Given the description of an element on the screen output the (x, y) to click on. 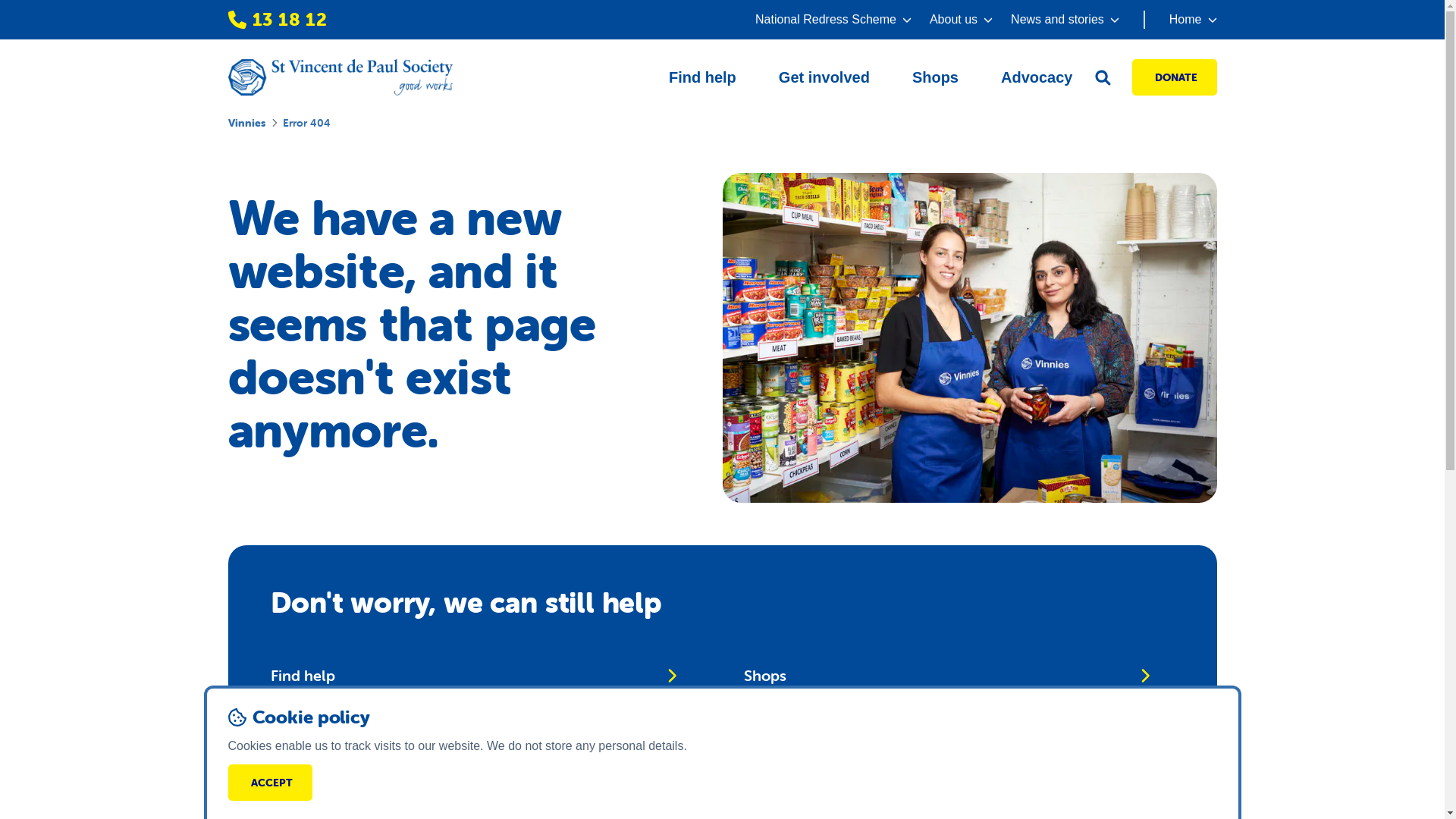
ACCEPT Element type: text (269, 782)
Home Element type: text (1180, 19)
Find help Element type: text (702, 76)
Contact us Element type: text (946, 775)
Search Element type: text (472, 775)
National Redress Scheme Element type: text (833, 19)
DONATE Element type: text (1173, 77)
Advocacy Element type: text (1037, 76)
Advocacy Element type: text (946, 725)
Vinnies Element type: text (245, 122)
Get involved Element type: text (823, 76)
13 18 12 Element type: text (276, 19)
About us Element type: text (960, 19)
Services Element type: text (472, 725)
Find help Element type: text (472, 675)
News and stories Element type: text (1064, 19)
Shops Element type: text (946, 675)
Shops Element type: text (935, 76)
